Given the description of an element on the screen output the (x, y) to click on. 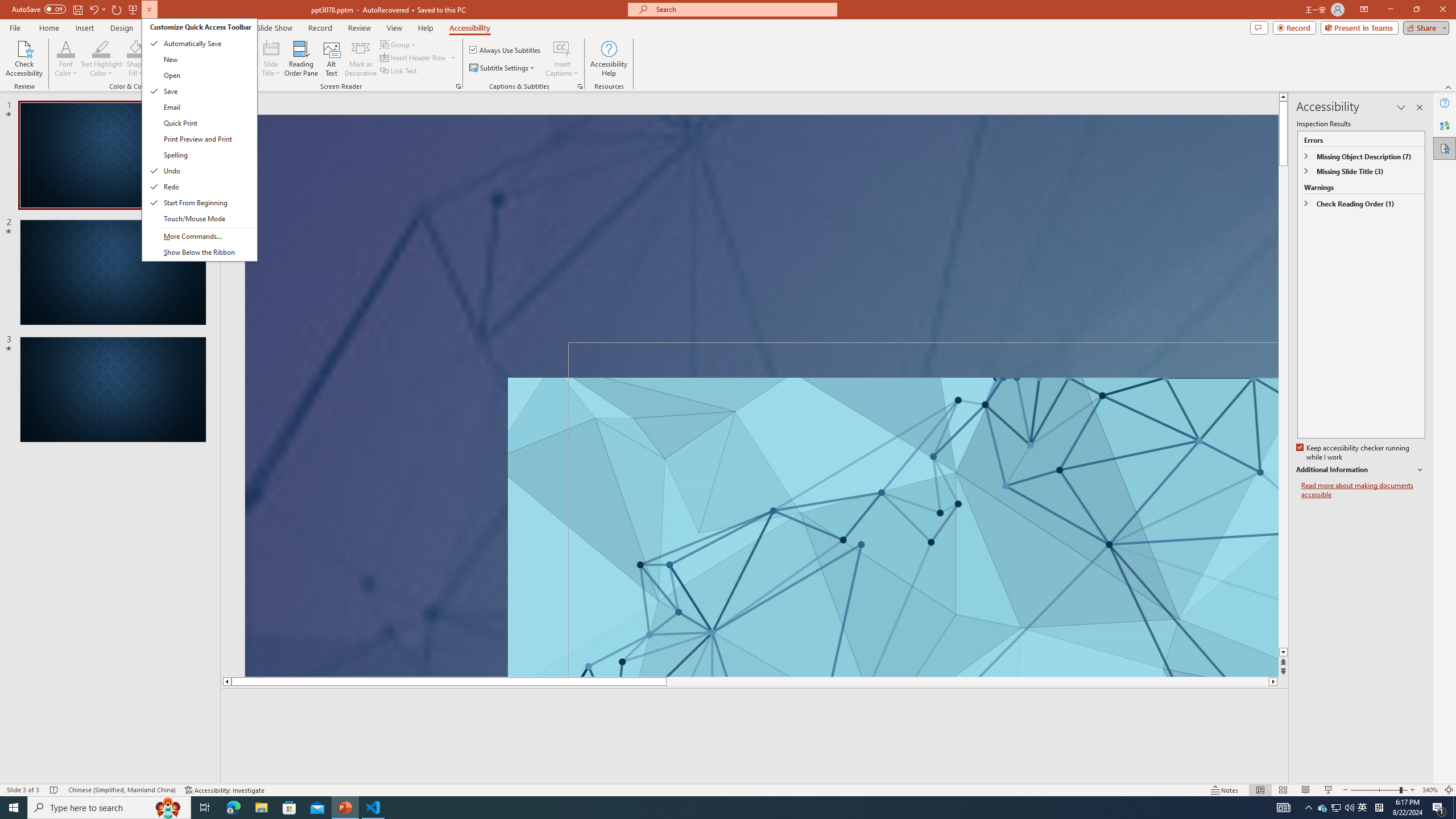
Accessibility Help (608, 58)
Insert Captions (561, 48)
